Given the description of an element on the screen output the (x, y) to click on. 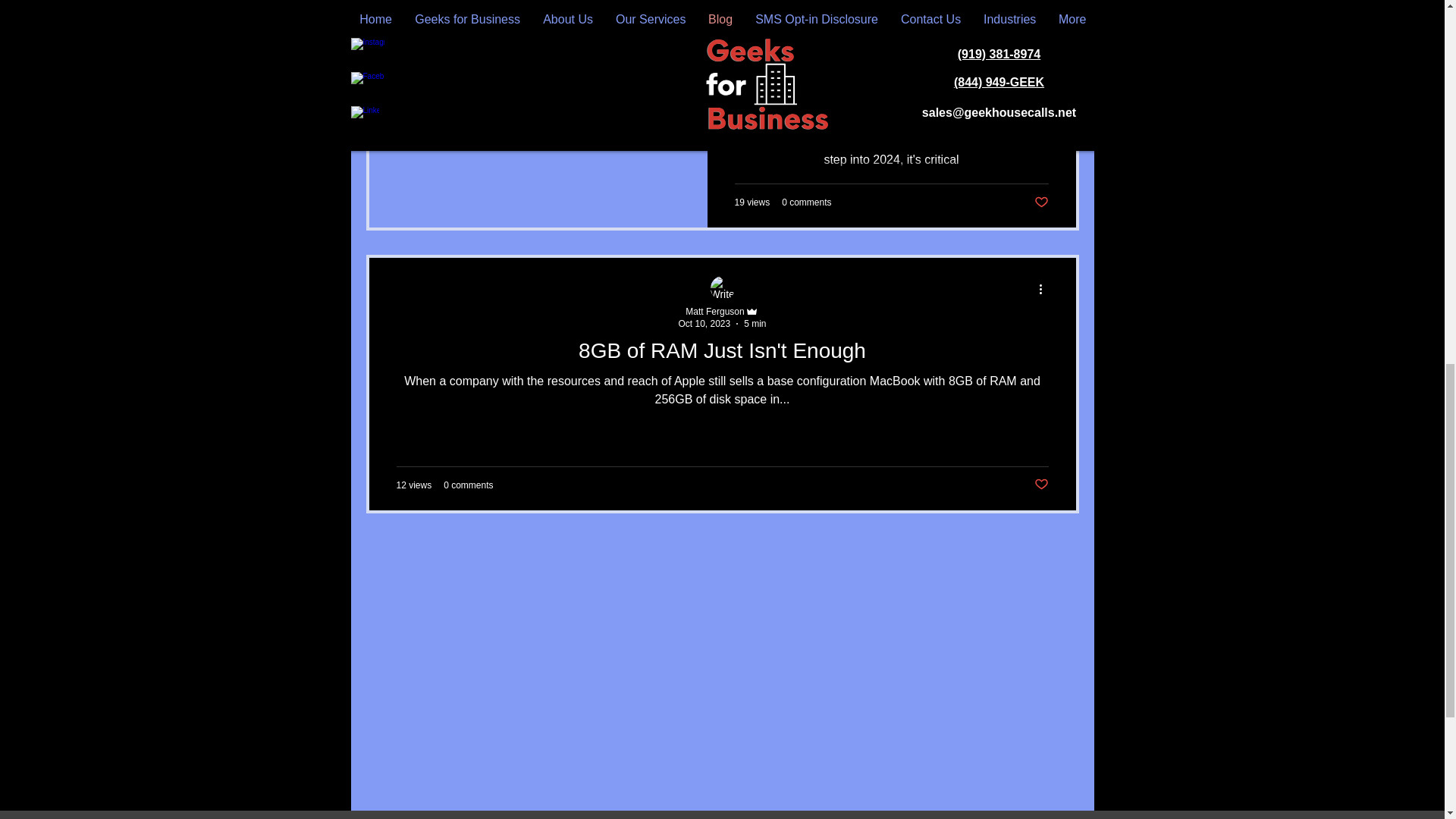
Matt Ferguson (883, 28)
Jan 12 (873, 41)
5 min (754, 323)
4 min (912, 41)
Matt Ferguson (714, 311)
Oct 10, 2023 (704, 323)
